Given the description of an element on the screen output the (x, y) to click on. 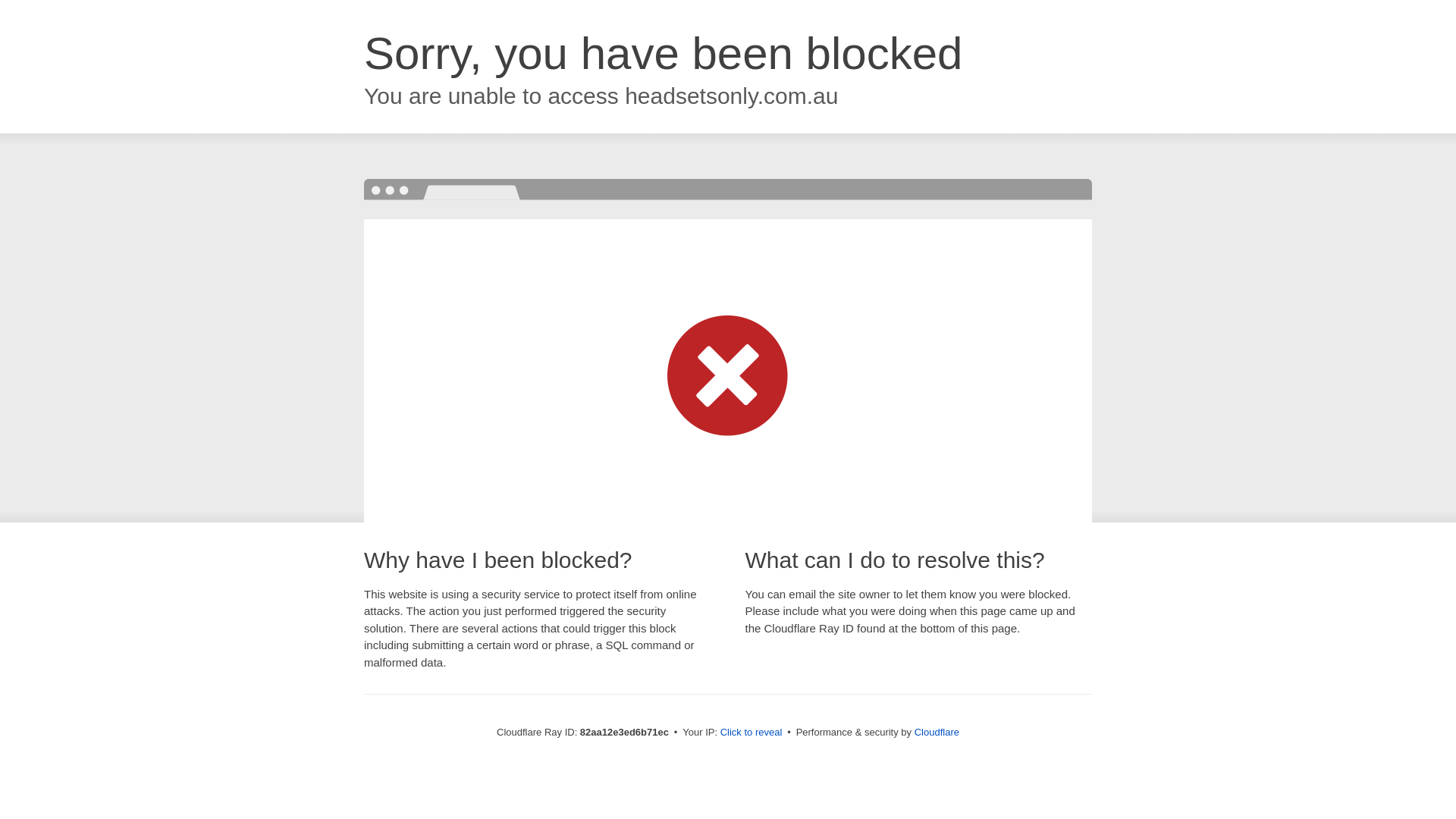
Cloudflare Element type: text (936, 731)
Click to reveal Element type: text (751, 732)
